Given the description of an element on the screen output the (x, y) to click on. 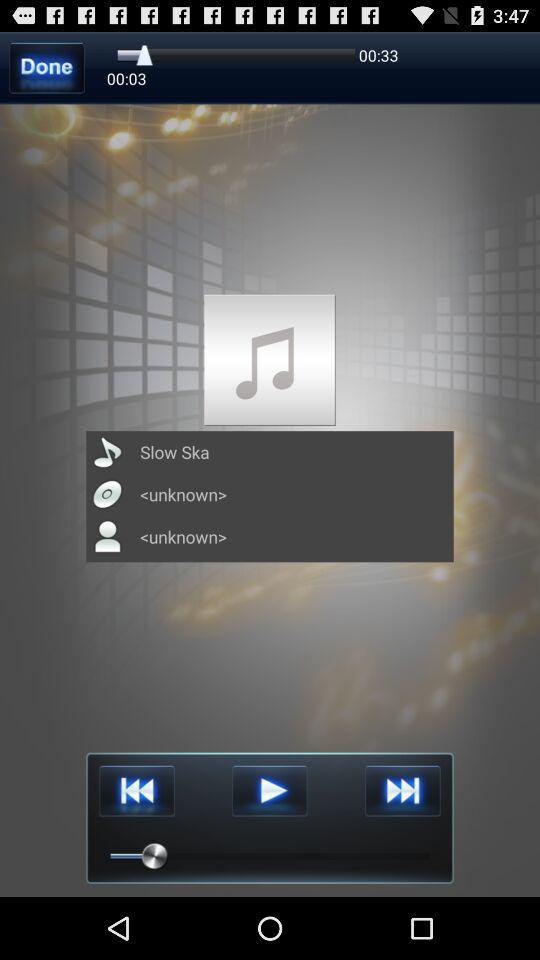
play (269, 790)
